Given the description of an element on the screen output the (x, y) to click on. 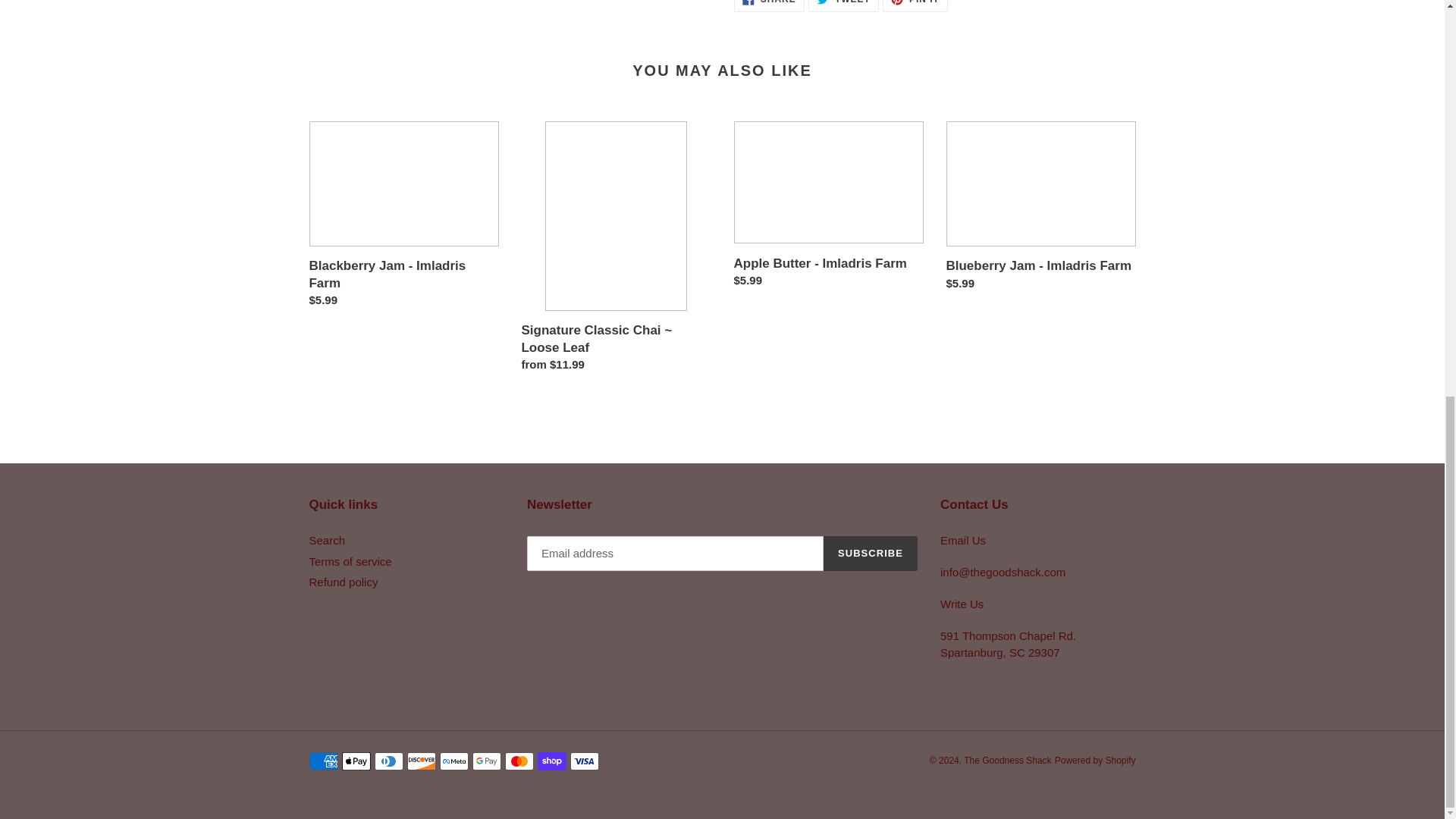
Powered by Shopify (1094, 760)
Blueberry Jam - Imladris Farm (1040, 209)
Refund policy (343, 581)
SUBSCRIBE (843, 6)
Search (870, 553)
The Goodness Shack (327, 540)
Terms of service (1007, 760)
Apple Butter - Imladris Farm (349, 561)
Blackberry Jam - Imladris Farm (828, 207)
